Given the description of an element on the screen output the (x, y) to click on. 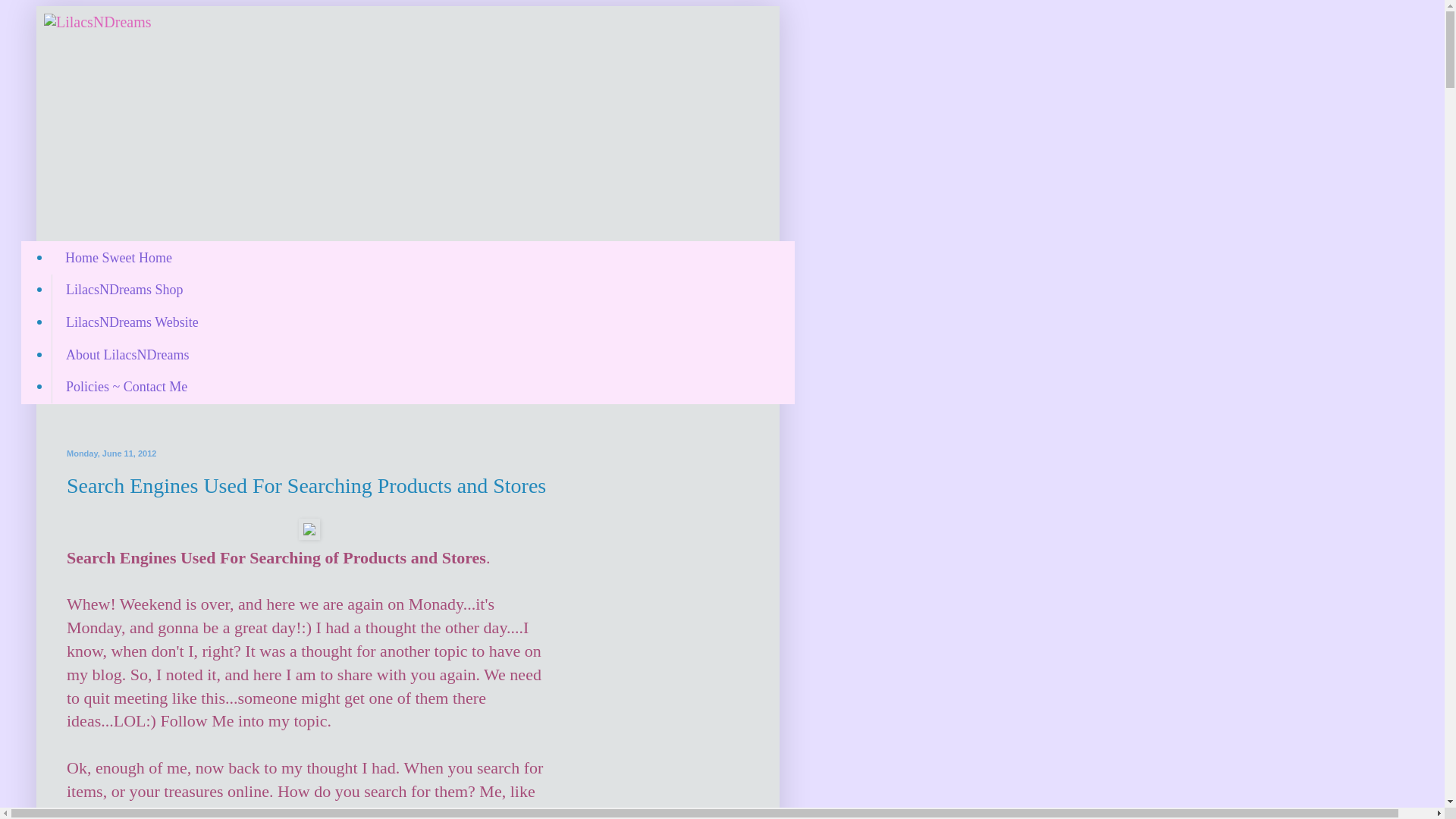
Home Sweet Home (118, 257)
LilacsNDreams Website (131, 322)
LilacsNDreams Shop (123, 290)
About LilacsNDreams (126, 355)
